Given the description of an element on the screen output the (x, y) to click on. 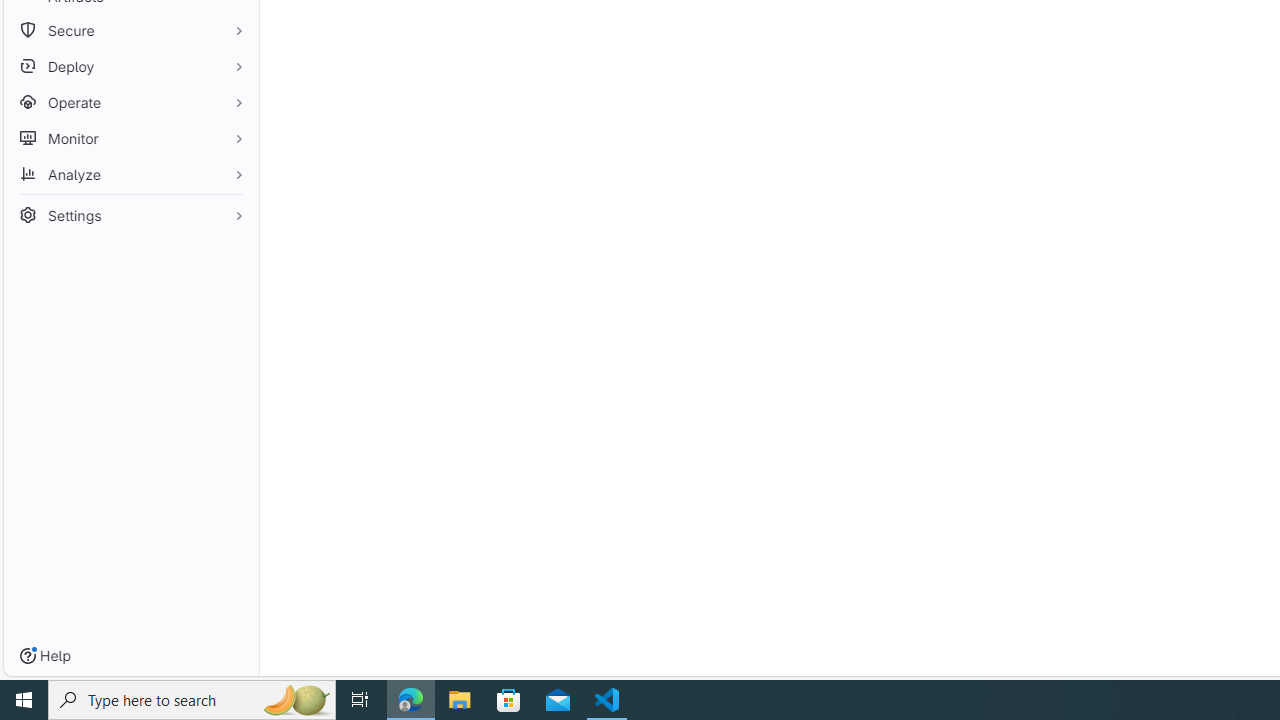
Monitor (130, 137)
Secure (130, 29)
Operate (130, 101)
Analyze (130, 173)
Secure (130, 29)
Monitor (130, 137)
Deploy (130, 65)
Deploy (130, 65)
Operate (130, 101)
Analyze (130, 173)
